Given the description of an element on the screen output the (x, y) to click on. 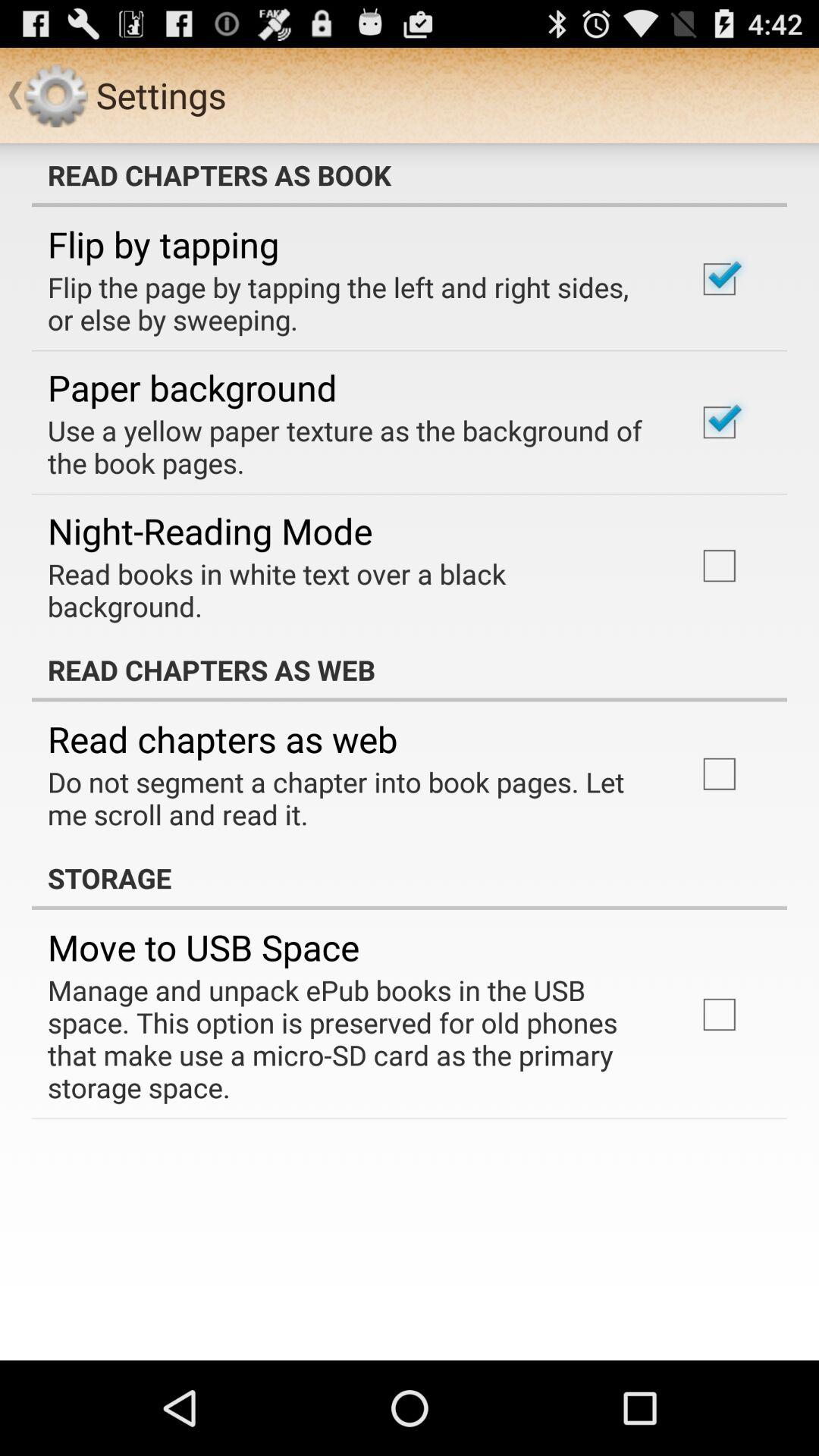
open item below storage icon (203, 947)
